Given the description of an element on the screen output the (x, y) to click on. 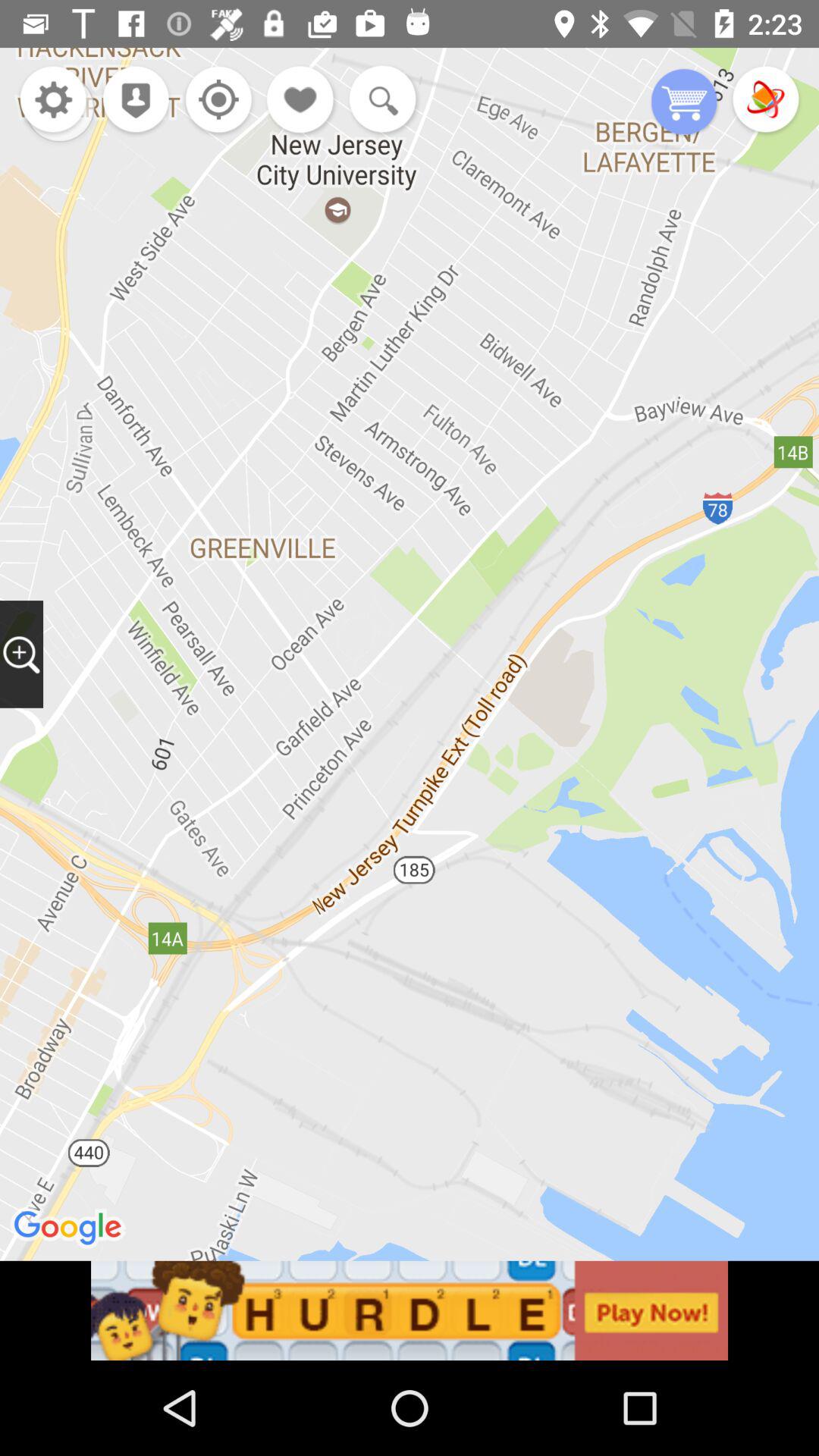
advertisement banner (409, 1310)
